Given the description of an element on the screen output the (x, y) to click on. 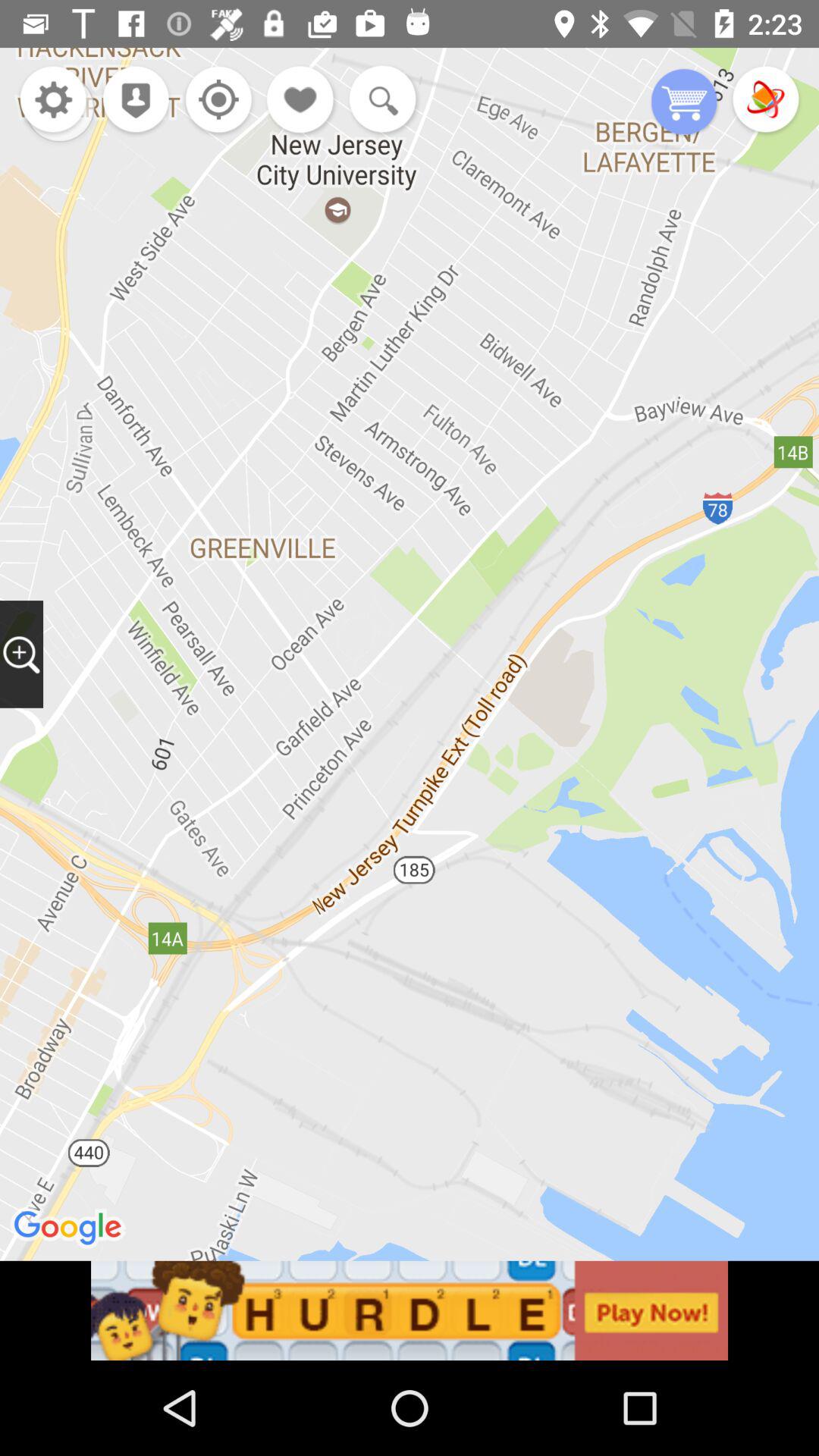
advertisement banner (409, 1310)
